Given the description of an element on the screen output the (x, y) to click on. 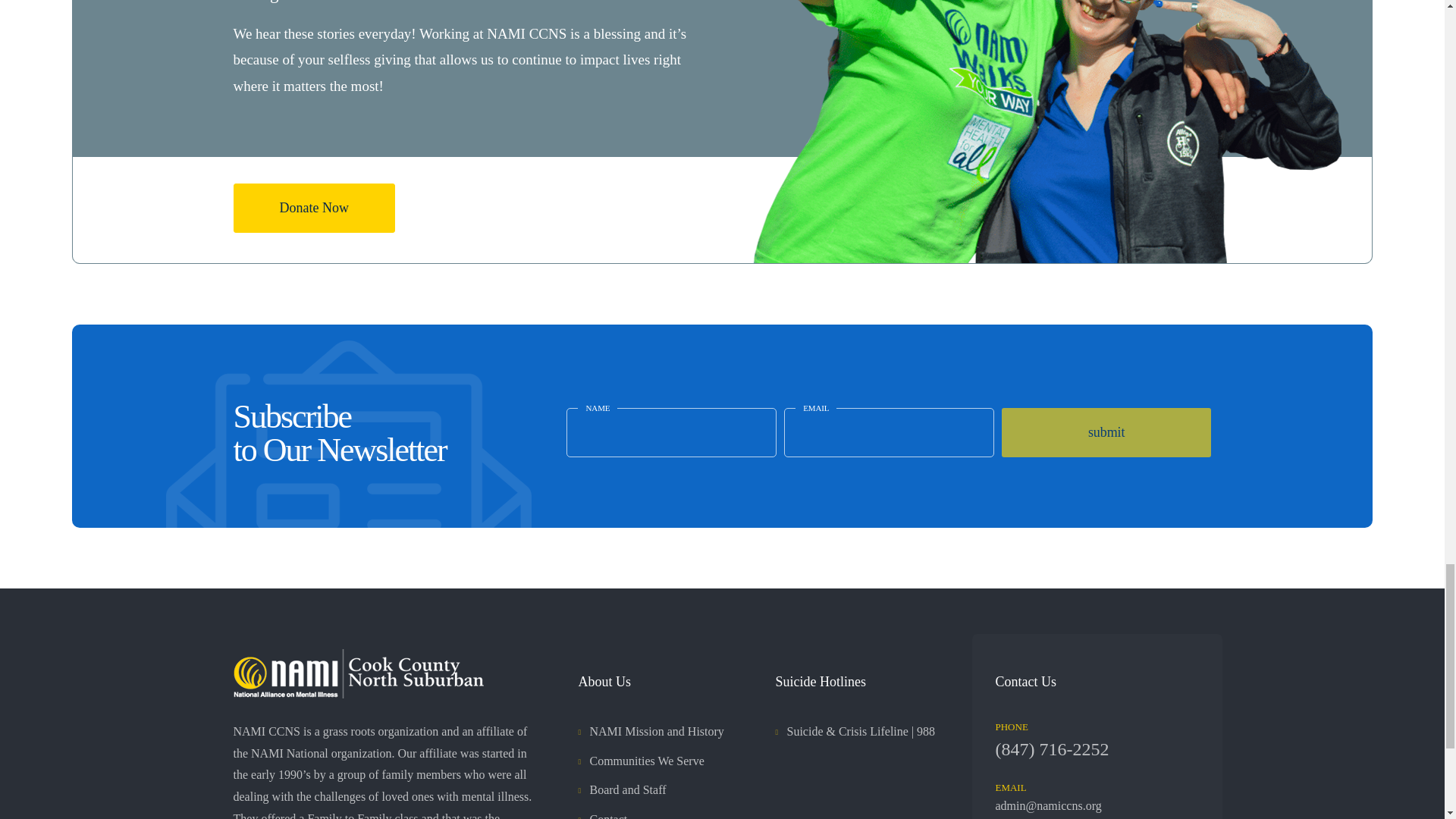
submit (1106, 432)
